Given the description of an element on the screen output the (x, y) to click on. 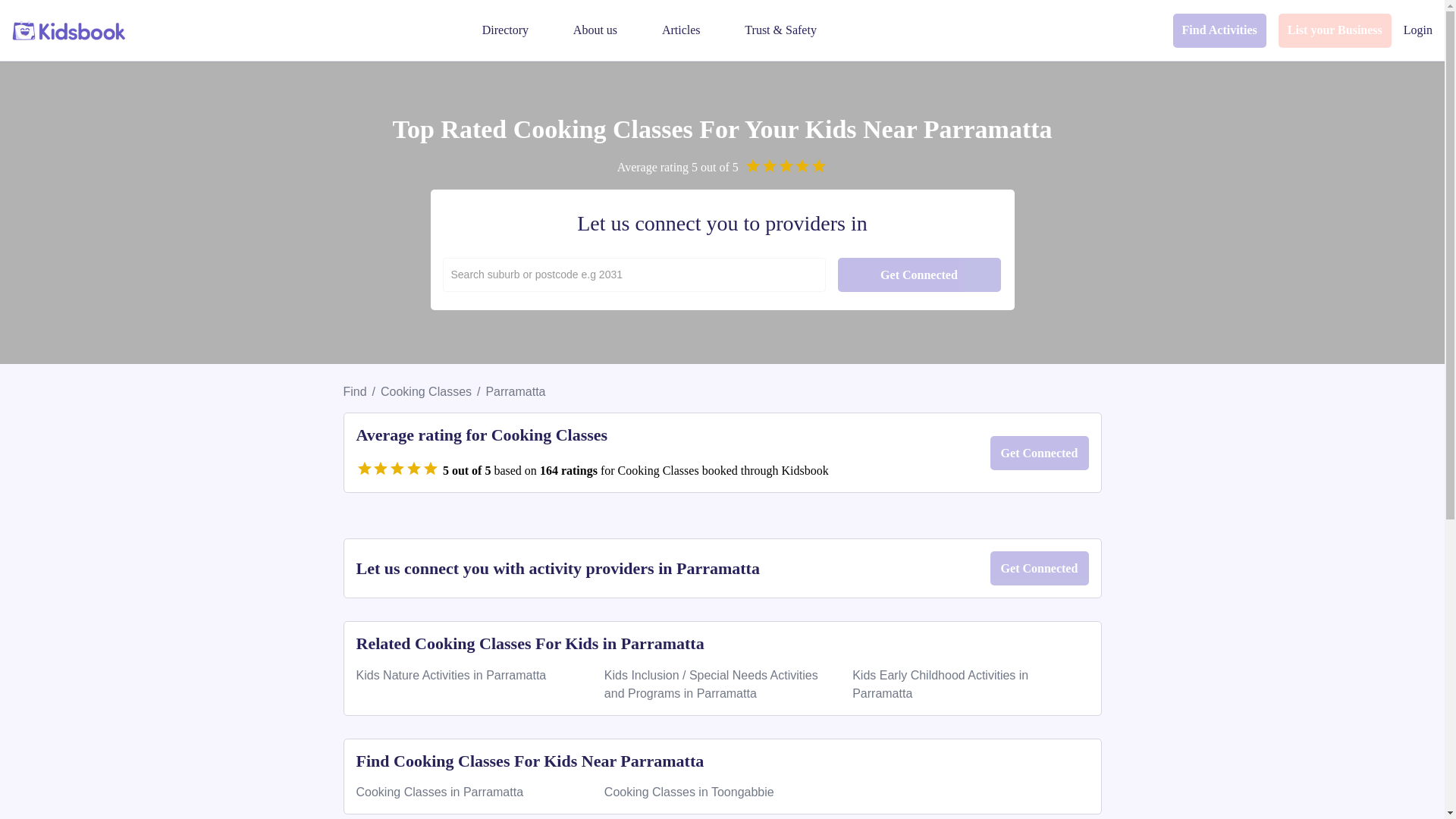
Find Activities (1219, 30)
Login (1417, 30)
Articles (681, 30)
Kids Nature Activities in Parramatta (451, 675)
Cooking Classes in Toongabbie (689, 791)
Directory (504, 30)
Cooking Classes in Parramatta (440, 791)
Get Connected (918, 274)
Parramatta (514, 391)
About us (595, 30)
